Given the description of an element on the screen output the (x, y) to click on. 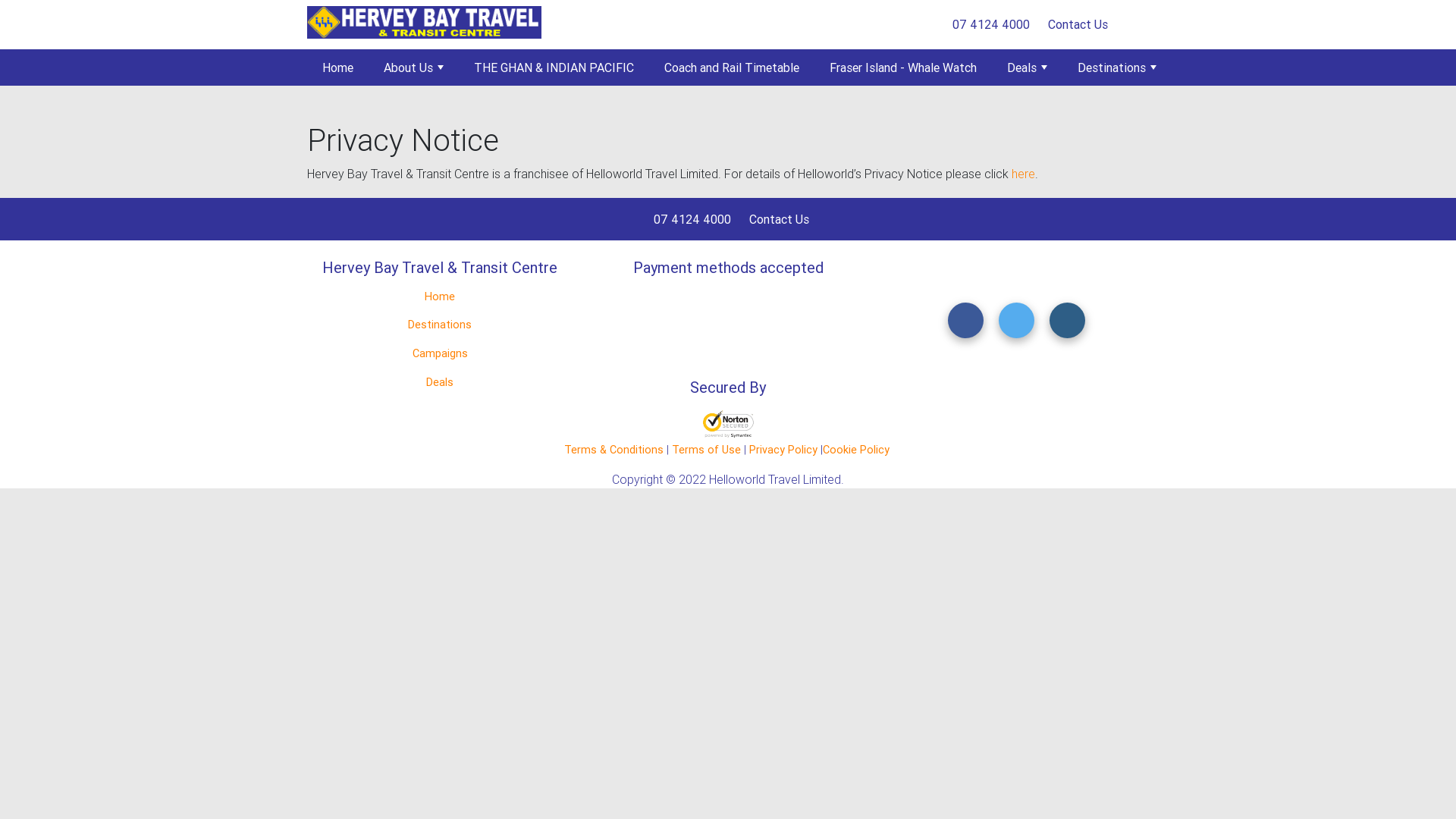
Destinations Element type: text (1116, 67)
Terms of Use Element type: text (707, 449)
THE GHAN & INDIAN PACIFIC Element type: text (553, 67)
Coach and Rail Timetable Element type: text (731, 67)
Home Element type: text (439, 296)
Destinations Element type: text (439, 324)
07 4124 4000 Element type: text (987, 24)
Contact Us Element type: text (1074, 24)
Fraser Island - Whale Watch Element type: text (902, 67)
07 4124 4000 Element type: text (689, 218)
Cookie Policy Element type: text (855, 450)
Terms & Conditions Element type: text (615, 449)
Privacy Policy Element type: text (783, 449)
About Us Element type: text (413, 67)
Deals Element type: text (439, 382)
here Element type: text (1023, 173)
Home Element type: text (337, 67)
Deals Element type: text (1026, 67)
Contact Us Element type: text (776, 218)
Campaigns Element type: text (439, 353)
